Given the description of an element on the screen output the (x, y) to click on. 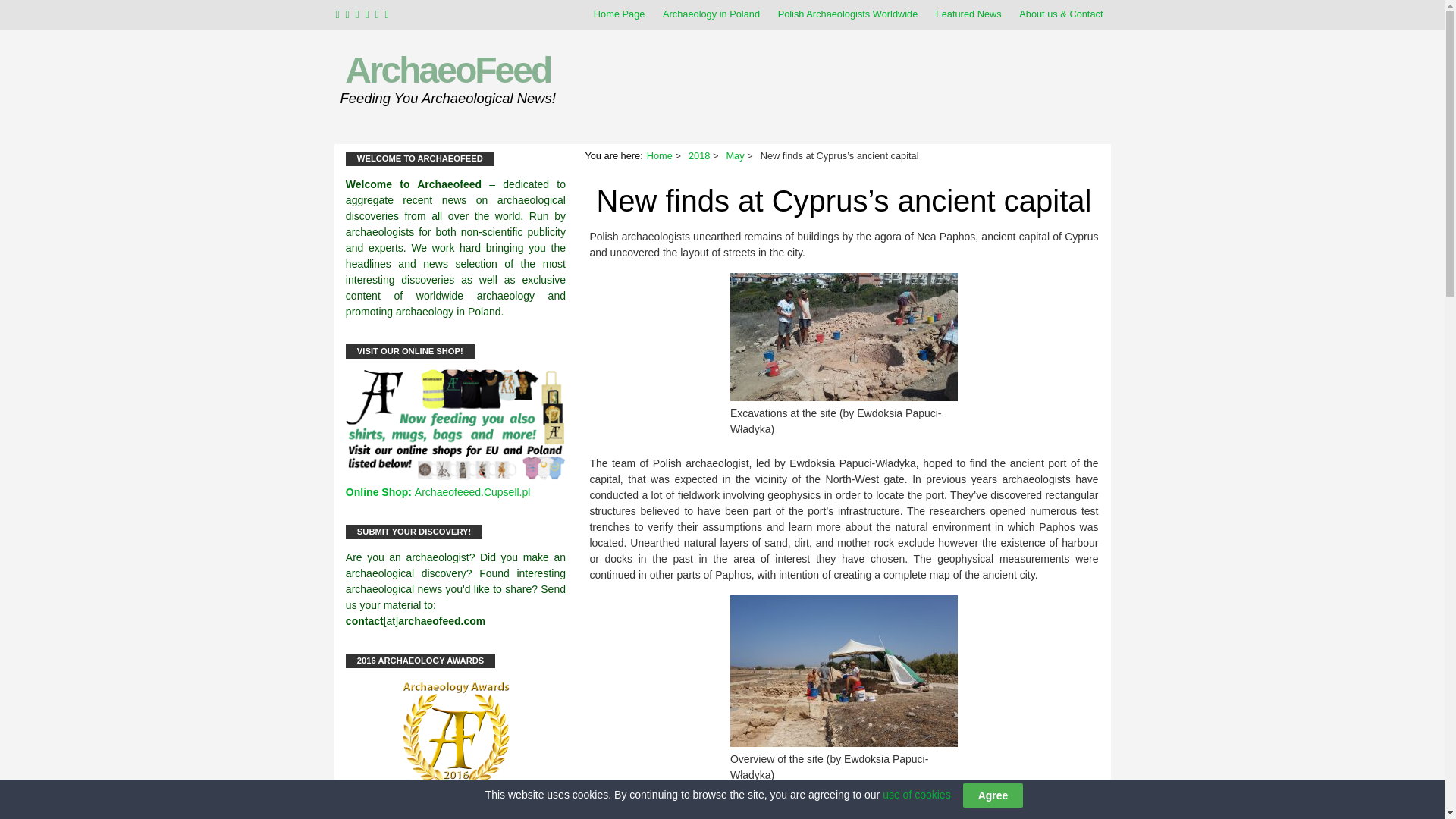
Archaeology in Poland (711, 13)
Home Page (619, 13)
Visit our online shop! (456, 476)
ArchaeoFeed (447, 69)
May (734, 155)
2018 (699, 155)
Polish Archaeologists Worldwide (848, 13)
2016 Archaeology Awards (456, 735)
Featured News (968, 13)
Home (659, 155)
